Given the description of an element on the screen output the (x, y) to click on. 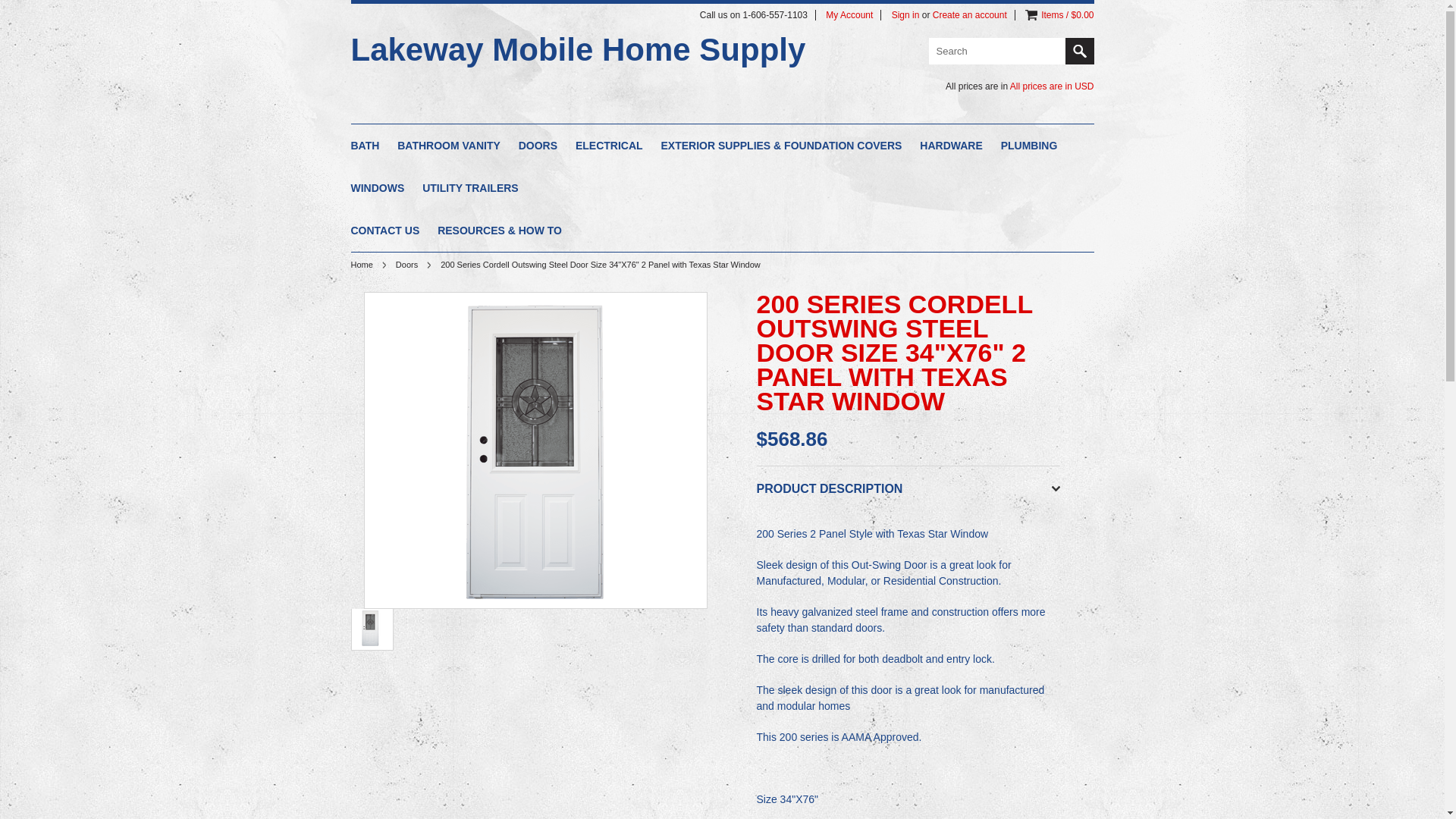
Doors (413, 264)
All prices are in USD (1052, 86)
PLUMBING (1029, 146)
US Dollars (1083, 86)
BATHROOM VANITY (448, 146)
BATH (364, 146)
My Account (848, 14)
Search (1078, 50)
ELECTRICAL (609, 146)
Home (367, 264)
Create an account (970, 14)
Image 1 (369, 628)
Sign in (905, 14)
View Cart (1030, 14)
Search (996, 50)
